Given the description of an element on the screen output the (x, y) to click on. 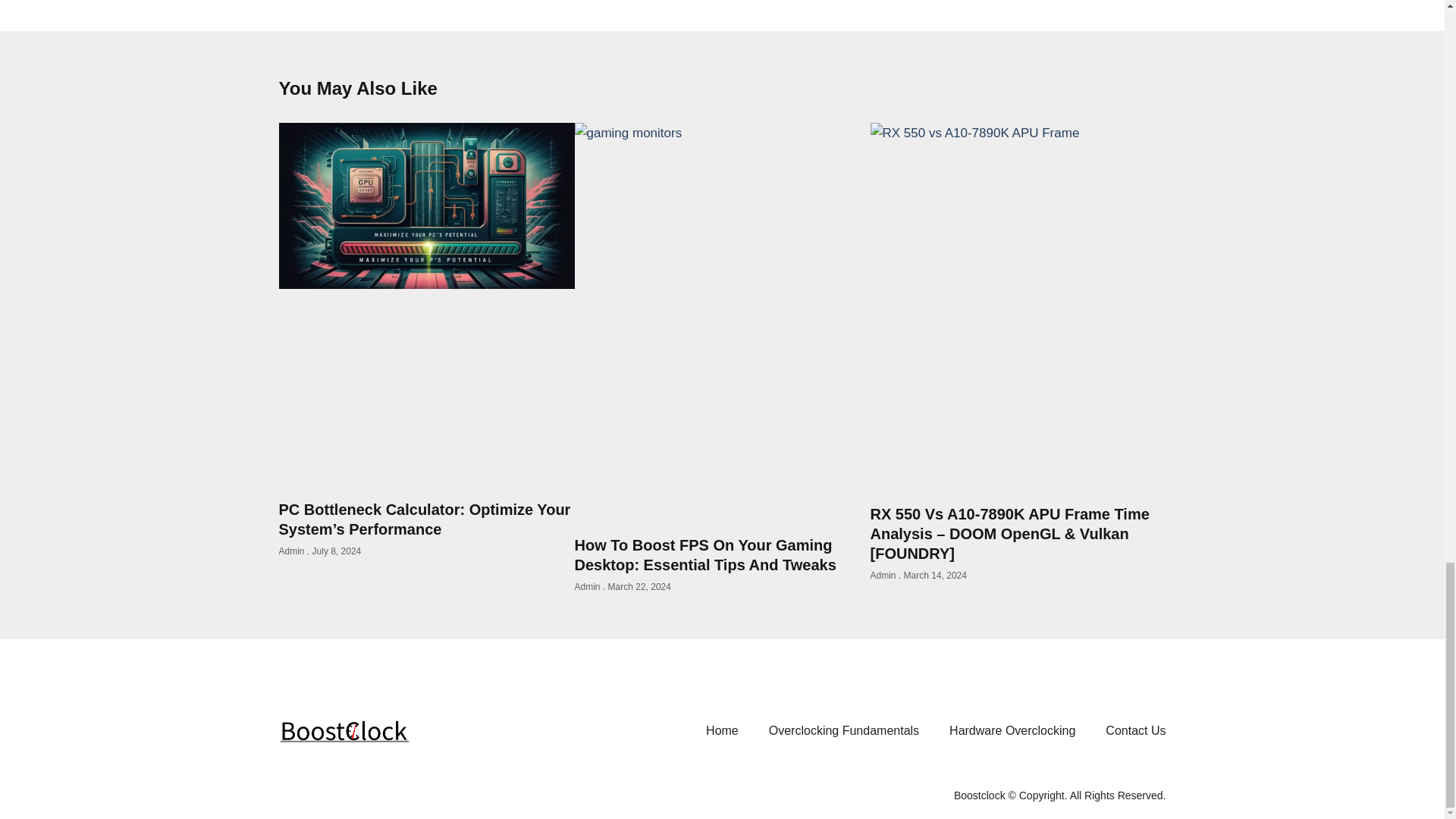
Home (722, 730)
Hardware Overclocking (1012, 730)
Contact Us (1135, 730)
Overclocking Fundamentals (844, 730)
